Given the description of an element on the screen output the (x, y) to click on. 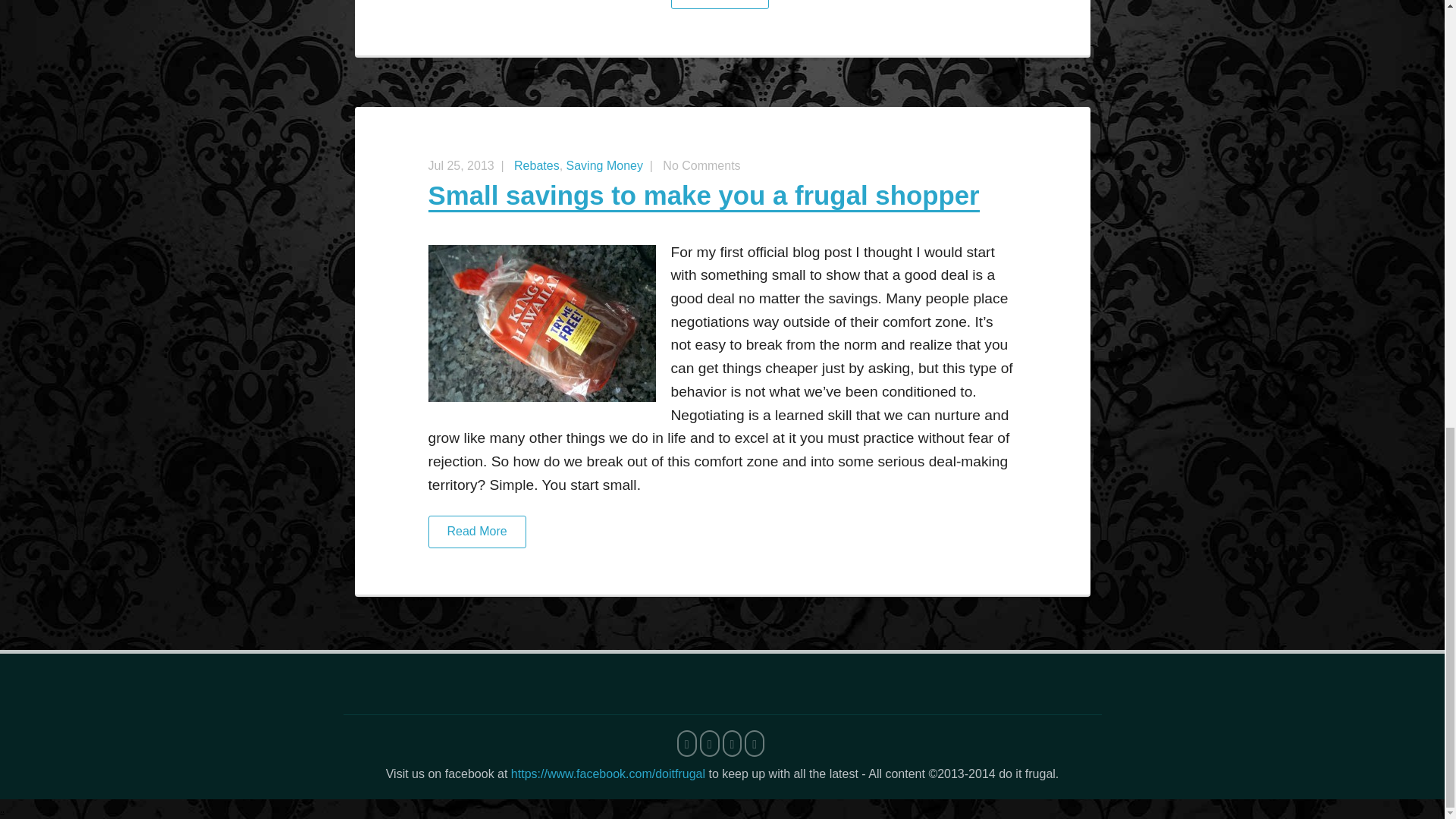
Small savings to make you a frugal shopper (703, 196)
Read More (722, 12)
Permalink to Small savings to make you a frugal shopper (703, 196)
Read More (722, 539)
Saving Money (604, 164)
Rebates (536, 164)
